Given the description of an element on the screen output the (x, y) to click on. 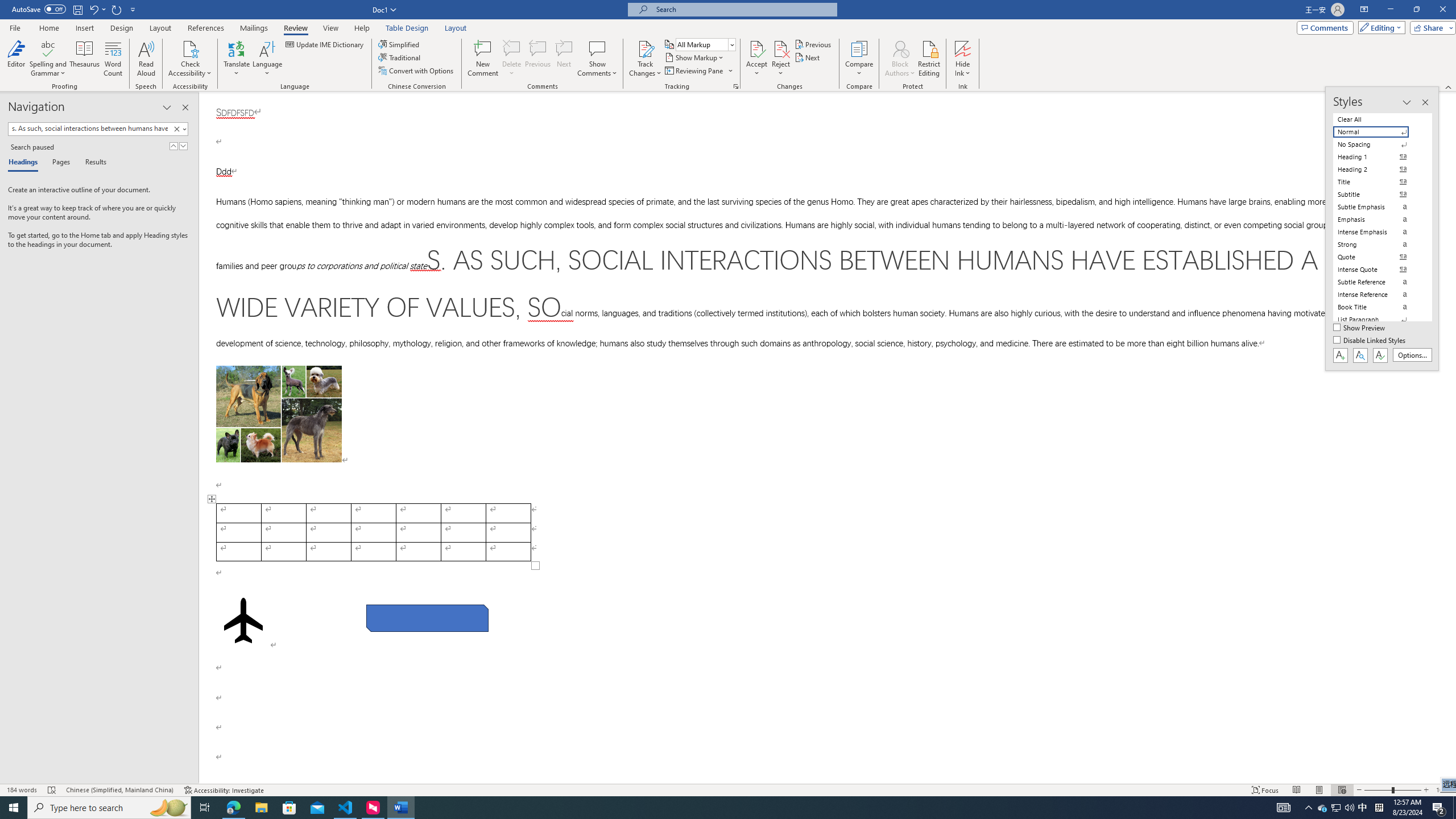
Convert with Options... (417, 69)
Restrict Editing (929, 58)
Check Accessibility (189, 48)
Intense Quote (1377, 269)
Reviewing Pane (694, 69)
Morphological variation in six dogs (278, 414)
Rectangle: Diagonal Corners Snipped 2 (427, 618)
Spelling and Grammar (48, 58)
